Given the description of an element on the screen output the (x, y) to click on. 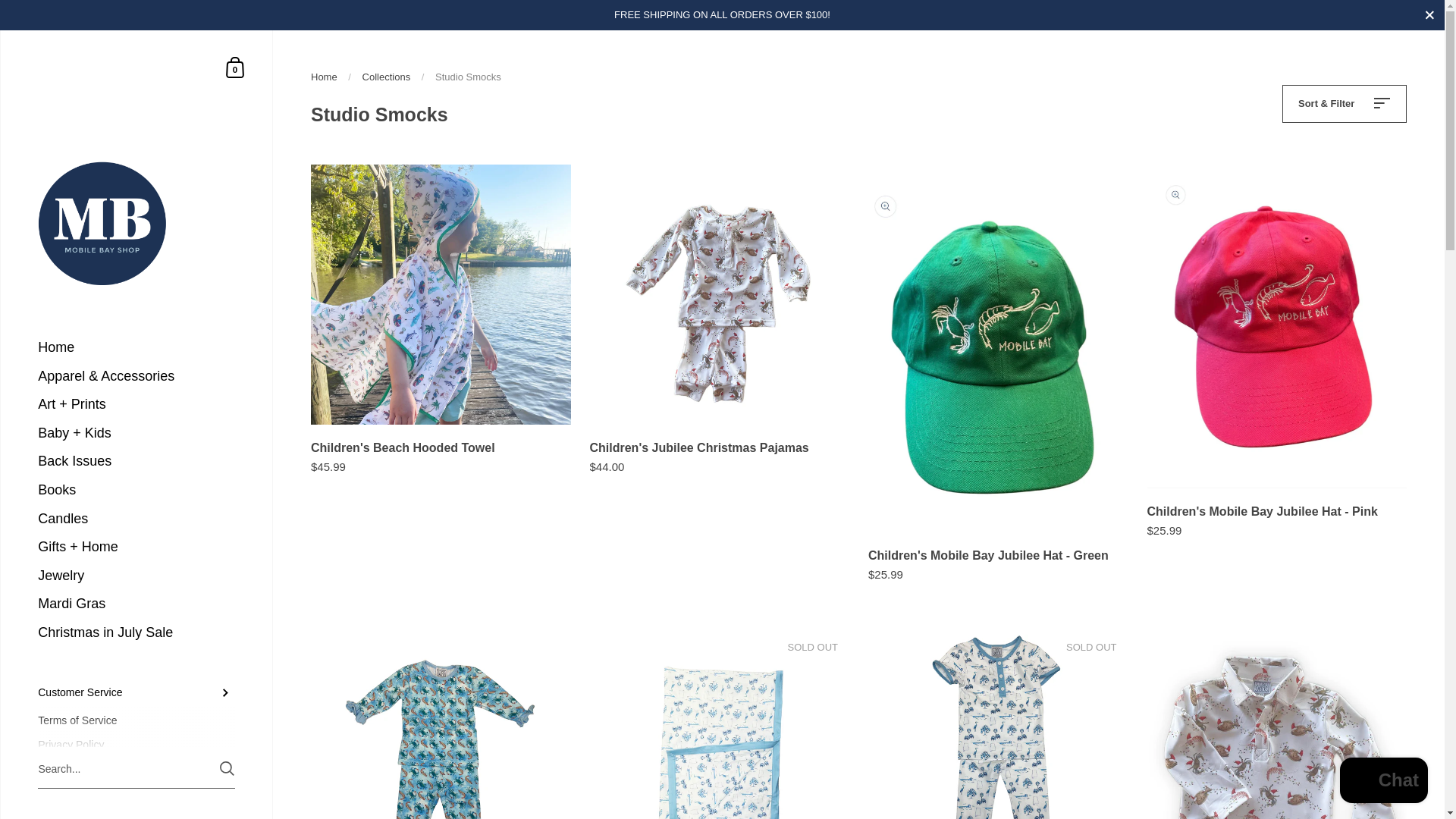
Customer Service (136, 693)
Home (136, 347)
Candles (136, 519)
Login (136, 795)
Books (136, 490)
Shopify online store chat (1383, 781)
Back Issues (136, 461)
Christmas in July Sale (136, 633)
Collections (386, 76)
Shopping Cart (235, 66)
